Given the description of an element on the screen output the (x, y) to click on. 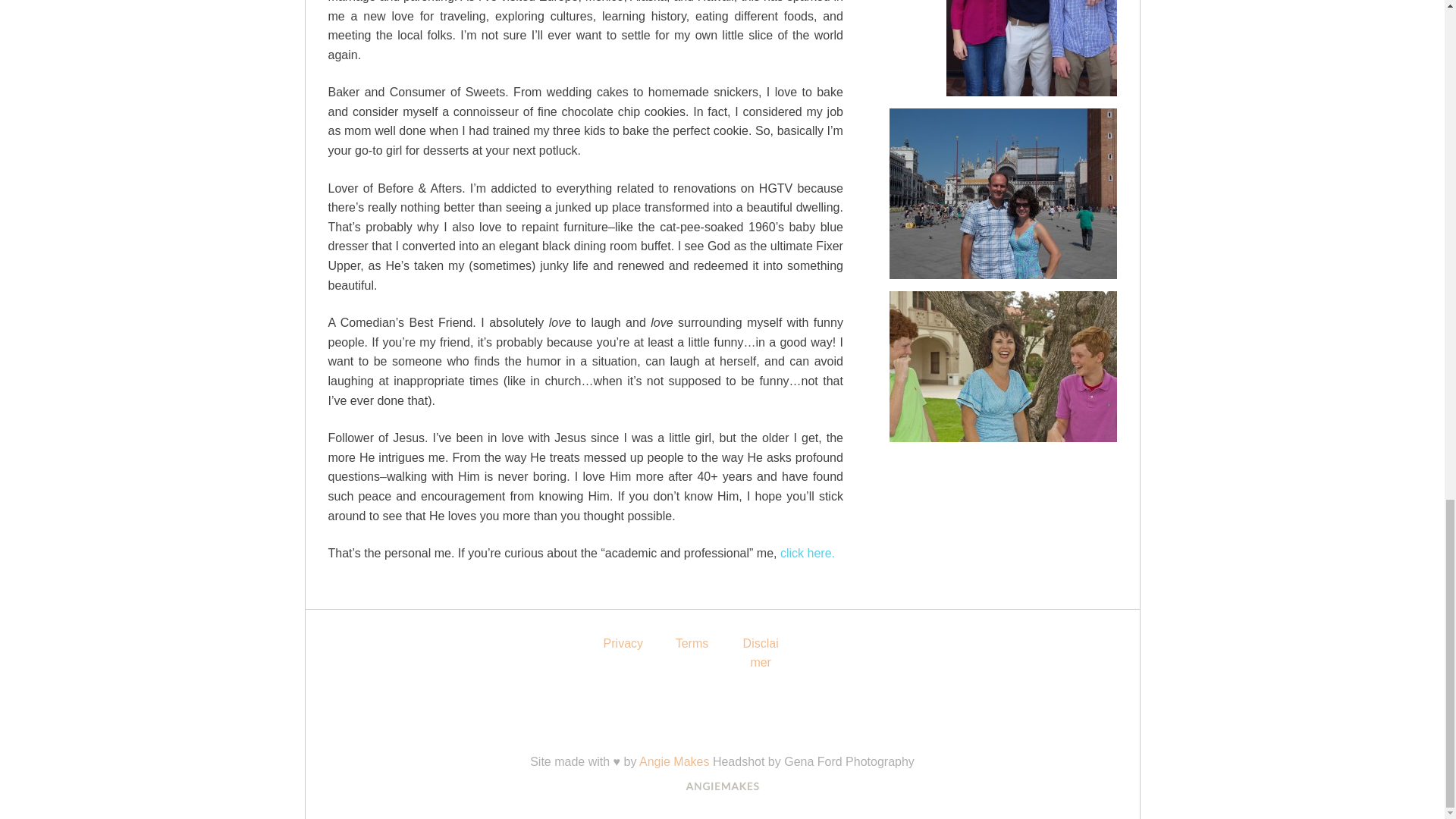
Disclaimer (760, 653)
Terms (692, 643)
Angie Makes (674, 761)
Privacy (623, 643)
click here. (807, 553)
